Given the description of an element on the screen output the (x, y) to click on. 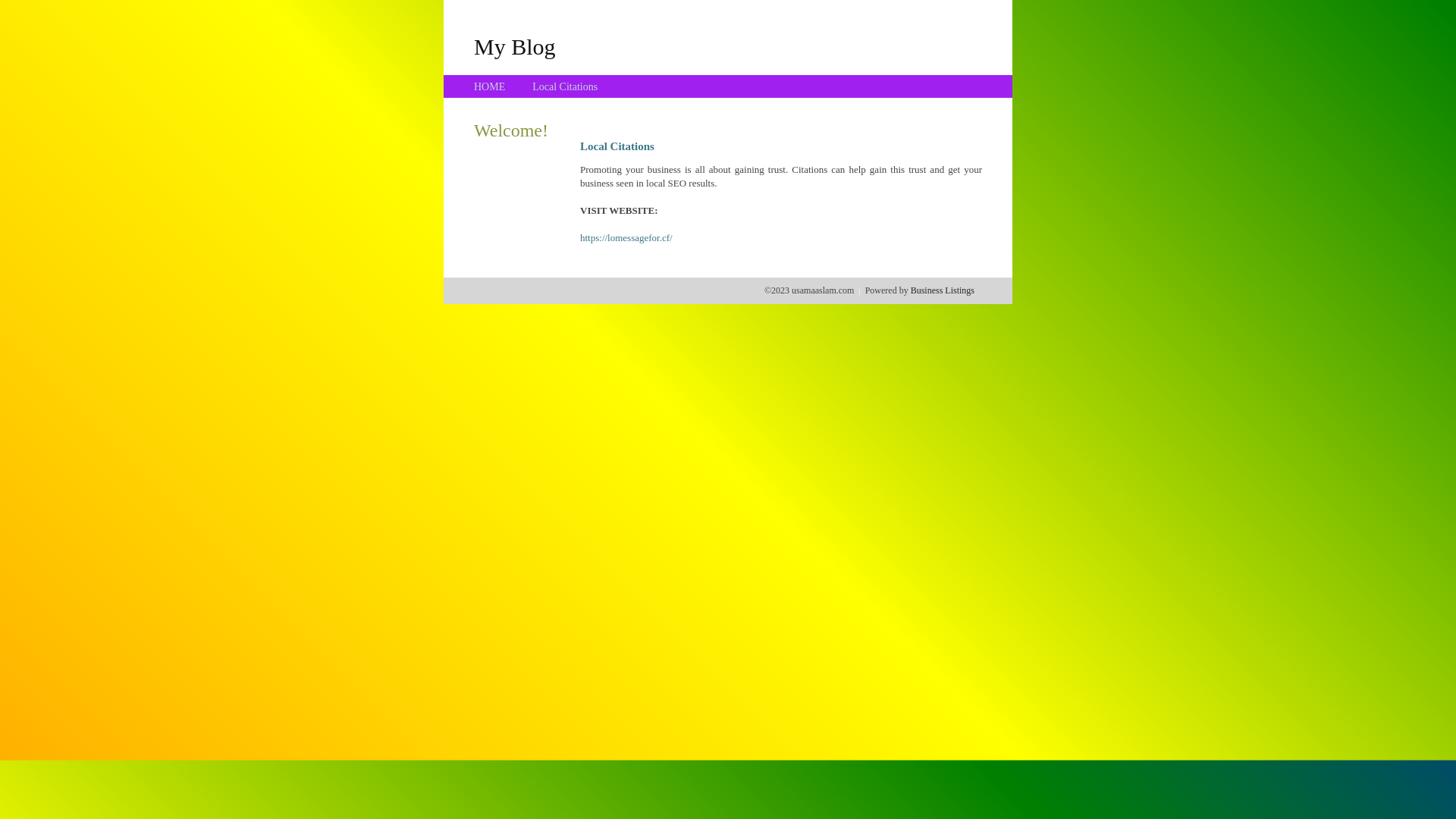
HOME Element type: text (489, 86)
Business Listings Element type: text (942, 290)
My Blog Element type: text (514, 46)
Local Citations Element type: text (564, 86)
https://lomessagefor.cf/ Element type: text (626, 237)
